Given the description of an element on the screen output the (x, y) to click on. 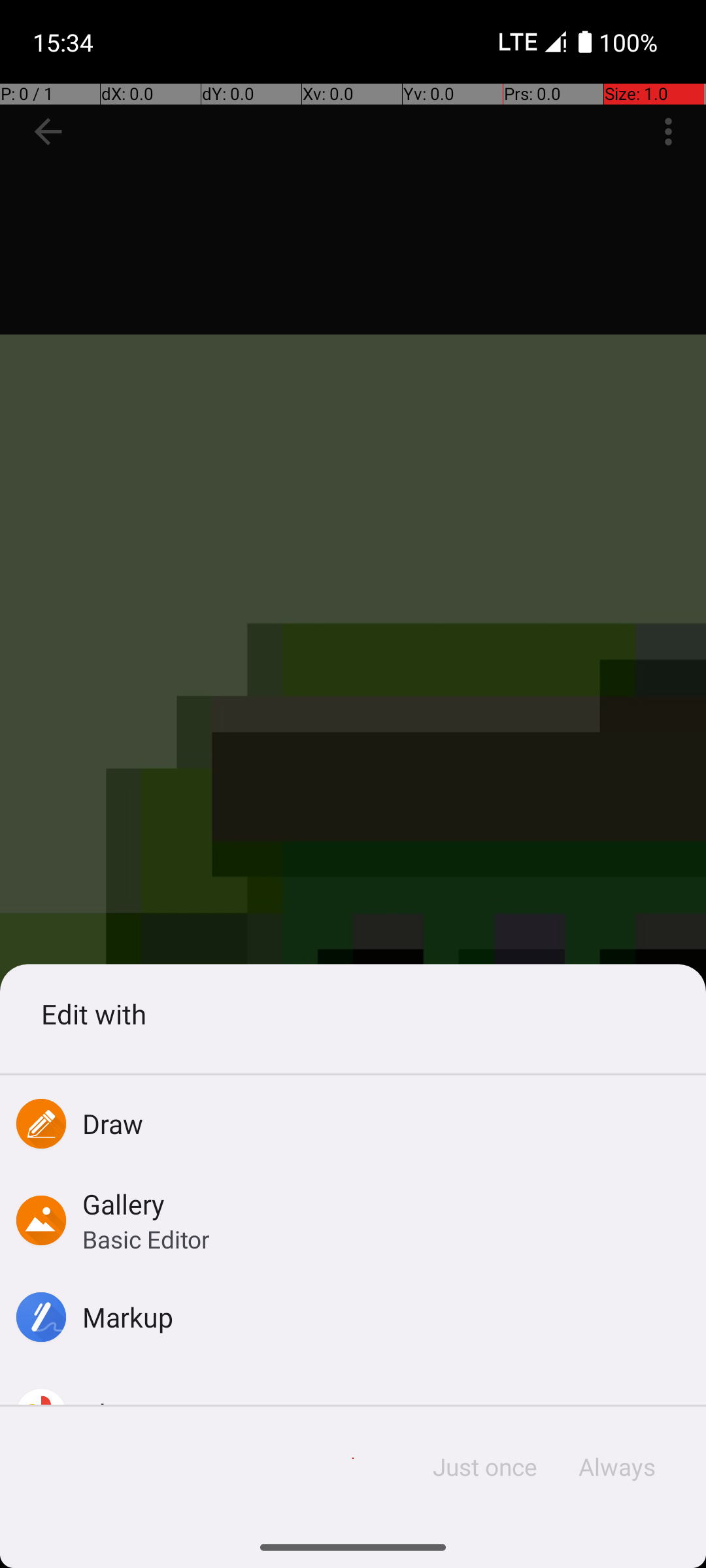
Edit with Element type: android.widget.TextView (352, 1013)
Draw Element type: android.widget.TextView (112, 1123)
Basic Editor Element type: android.widget.TextView (146, 1238)
Markup Element type: android.widget.TextView (127, 1316)
